Given the description of an element on the screen output the (x, y) to click on. 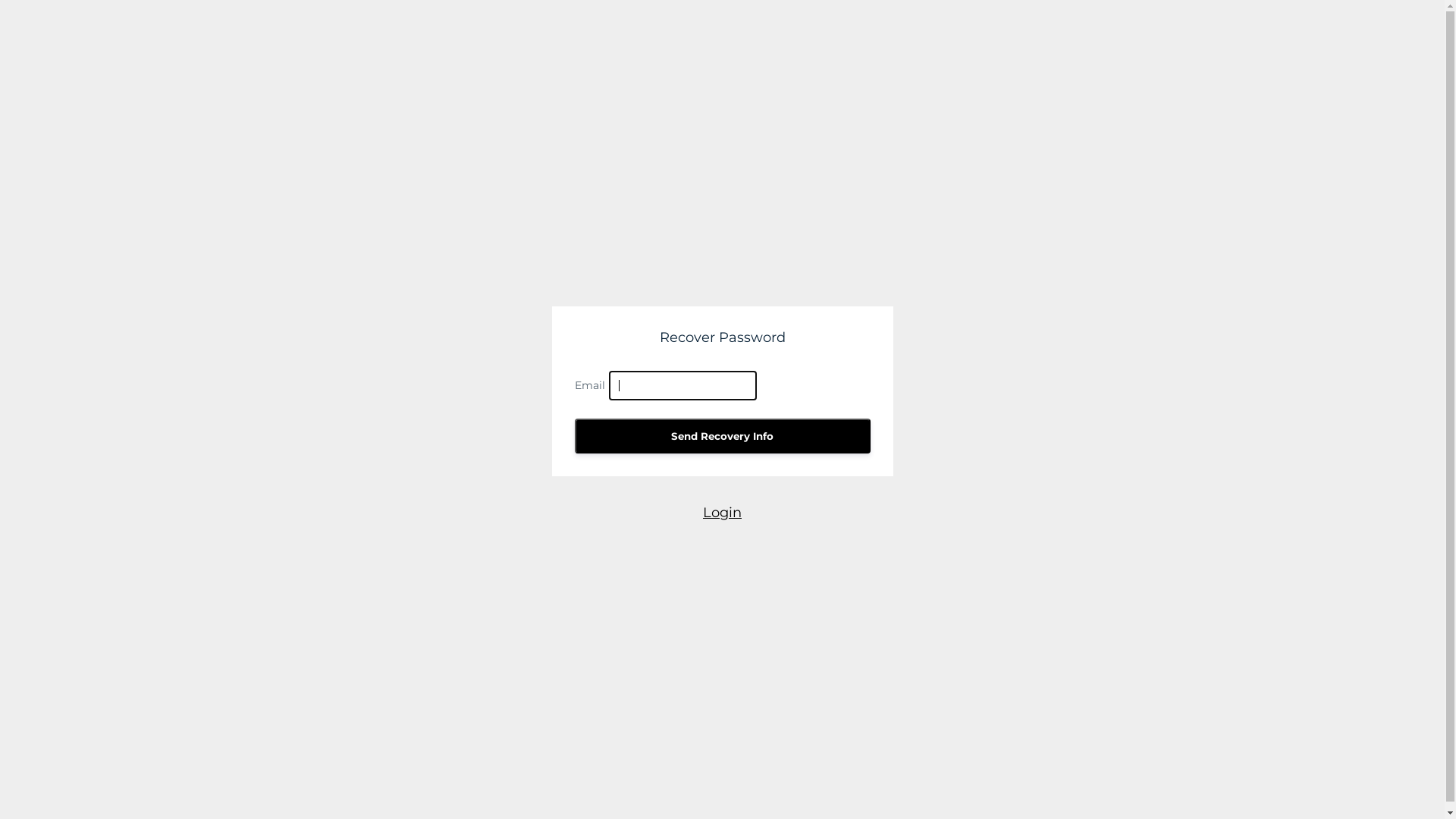
Login Element type: text (721, 512)
Send Recovery Info Element type: text (722, 435)
